Given the description of an element on the screen output the (x, y) to click on. 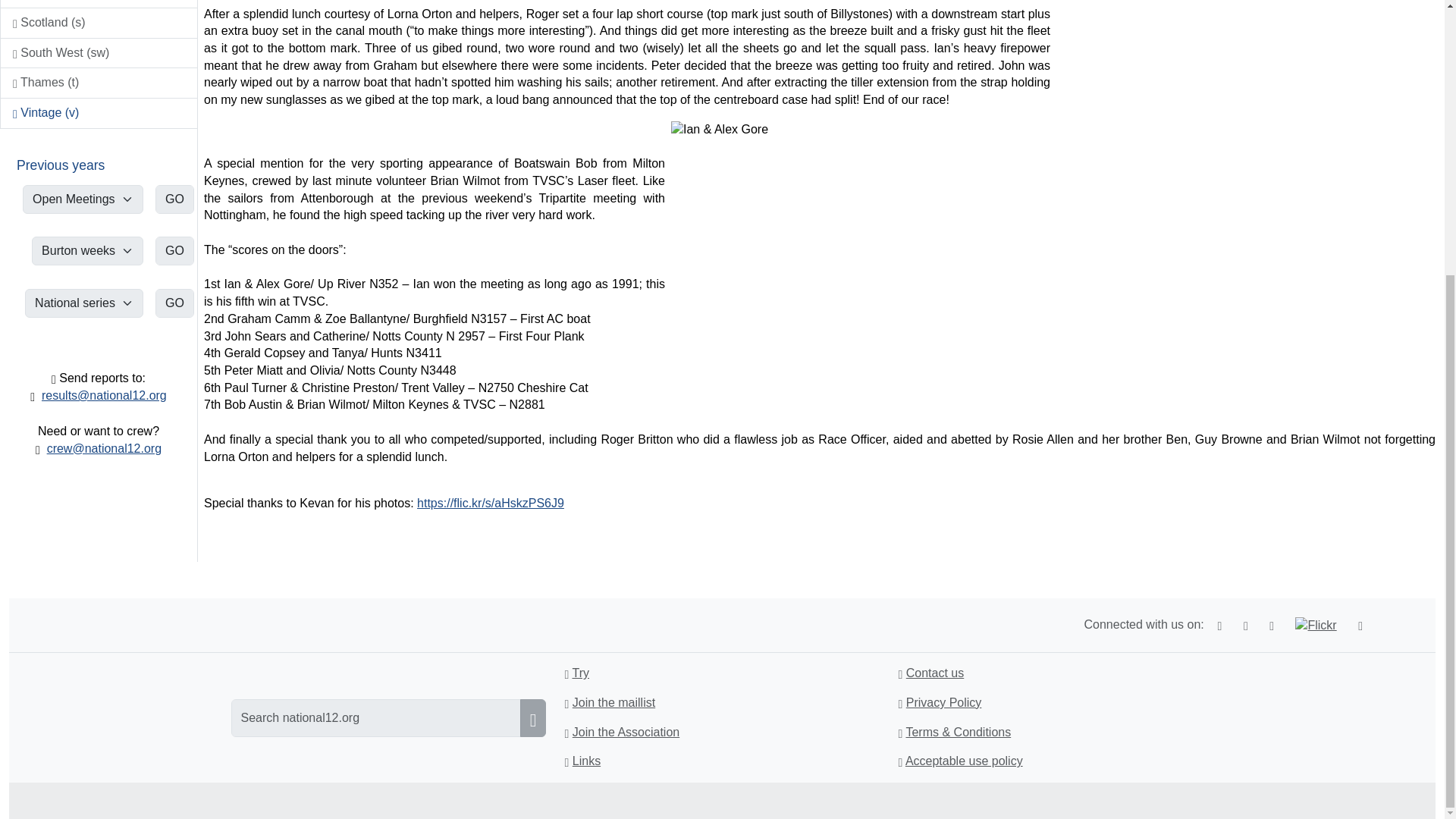
Flickr (1315, 625)
Join the Association (625, 731)
Links (585, 760)
Acceptable use policy (964, 760)
Try a 12 (580, 672)
Privacy Policy (943, 702)
GO (174, 303)
GO (174, 250)
GO (174, 199)
Try (580, 672)
Contact us (934, 672)
Join the maillist (613, 702)
